Given the description of an element on the screen output the (x, y) to click on. 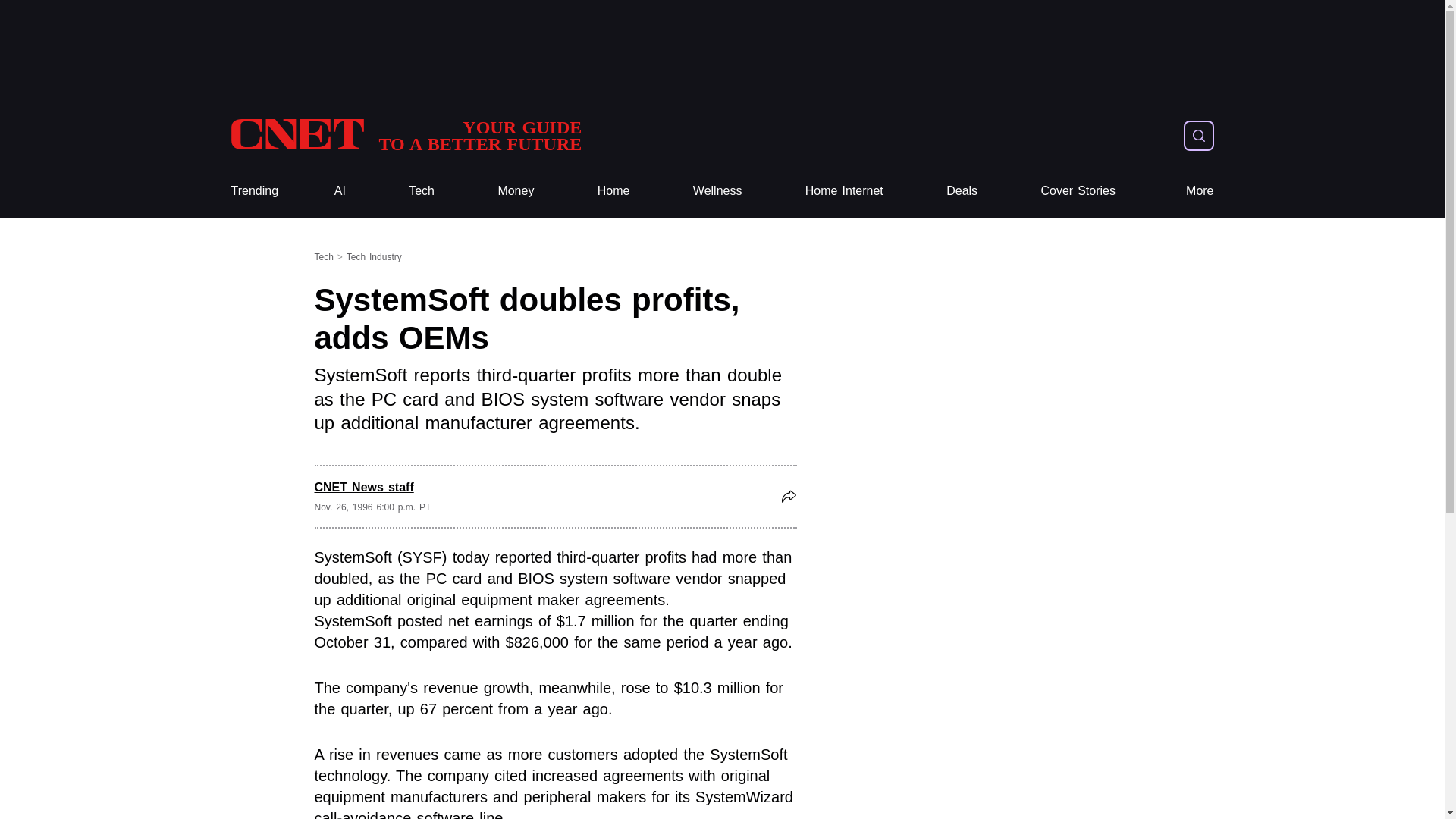
Tech (421, 190)
Home (613, 190)
Wellness (405, 135)
Wellness (717, 190)
CNET (717, 190)
More (405, 135)
Tech (1199, 190)
Deals (421, 190)
Trending (961, 190)
